Given the description of an element on the screen output the (x, y) to click on. 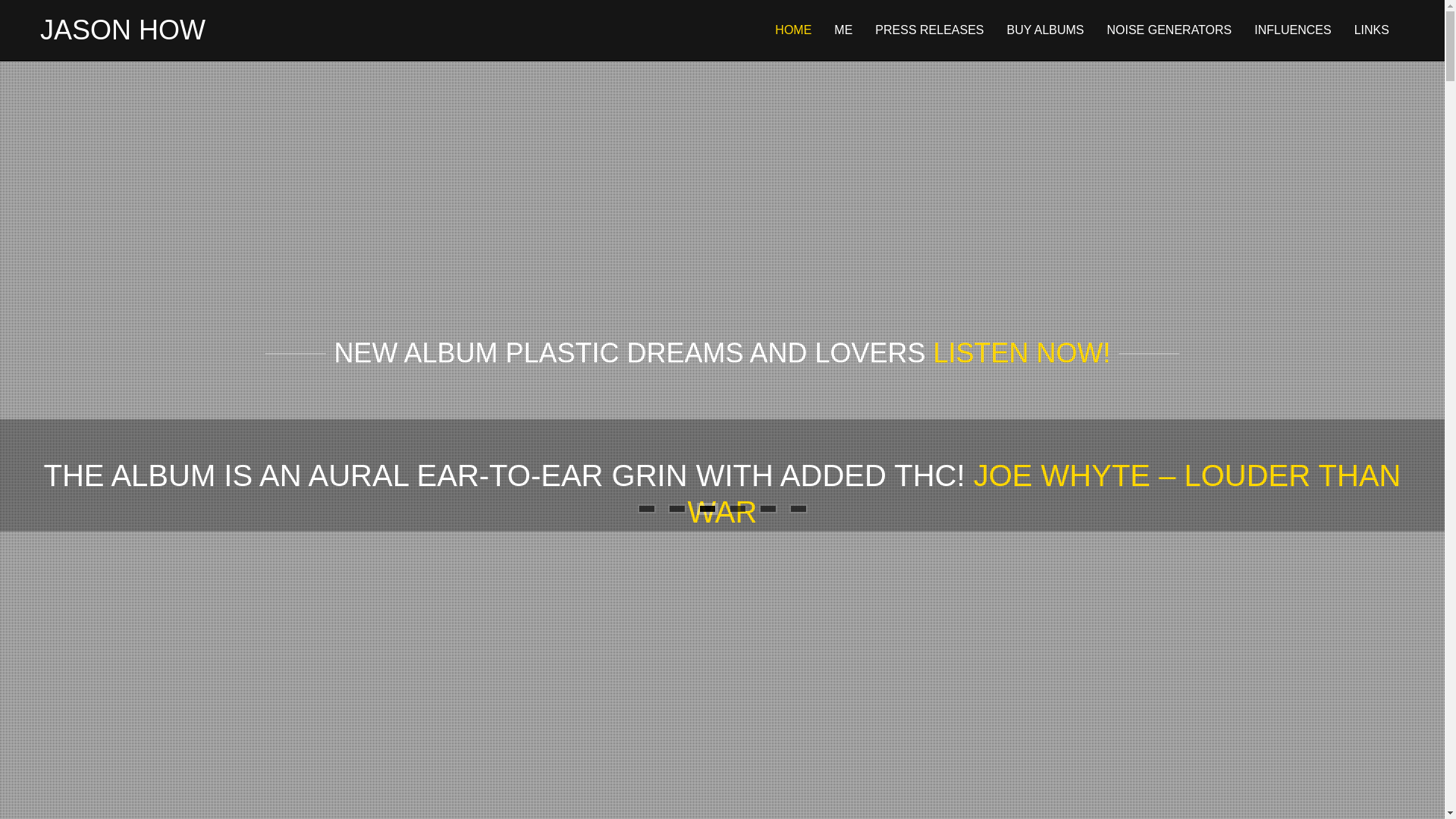
PRESS RELEASES (929, 29)
ME (842, 29)
6 (797, 508)
5 (767, 508)
1 (646, 508)
HOME (792, 29)
LISTEN NOW! (1021, 351)
INFLUENCES (1291, 29)
JASON HOW (122, 29)
LINKS (1371, 29)
NOISE GENERATORS (1168, 29)
2 (676, 508)
BUY ALBUMS (1045, 29)
4 (736, 508)
3 (706, 508)
